Given the description of an element on the screen output the (x, y) to click on. 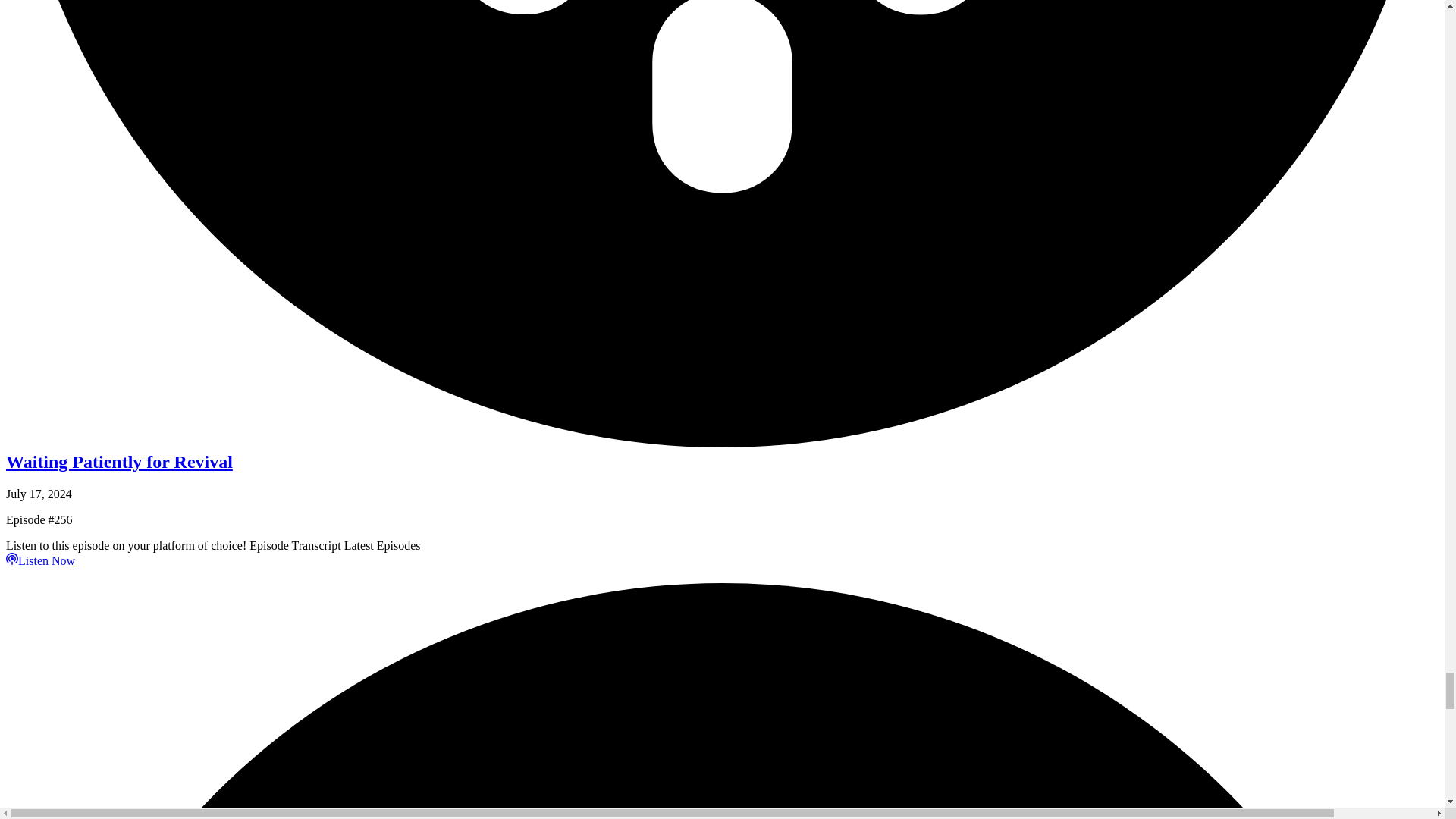
Listen Now (40, 560)
Waiting Patiently for Revival (118, 461)
